Given the description of an element on the screen output the (x, y) to click on. 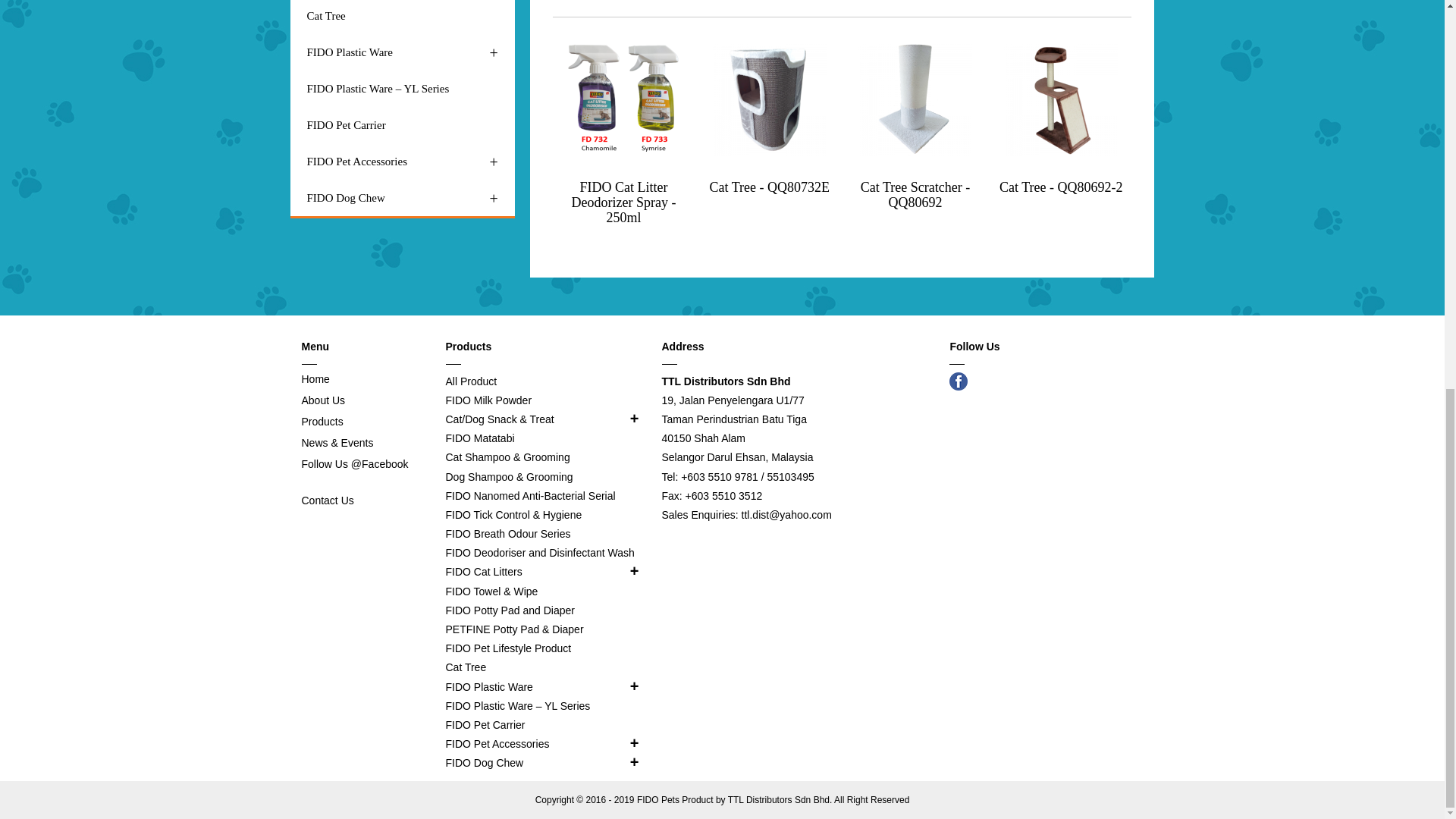
Read more FIDO Cat Litter Deodorizer Spray - 250ml (623, 99)
Read more Cat Tree - QQ80692-2 (1060, 99)
Cat Tree Scratcher - QQ80692 (914, 194)
Cat Tree - QQ80692-2 (1060, 186)
Cat Tree - QQ80732E (769, 186)
Read more Cat Tree - QQ80732E (769, 99)
Read more Cat Tree Scratcher - QQ80692 (914, 99)
FIDO Pet Carrier (401, 125)
FIDO Cat Litter Deodorizer Spray - 250ml (624, 202)
Cat Tree (401, 17)
